Given the description of an element on the screen output the (x, y) to click on. 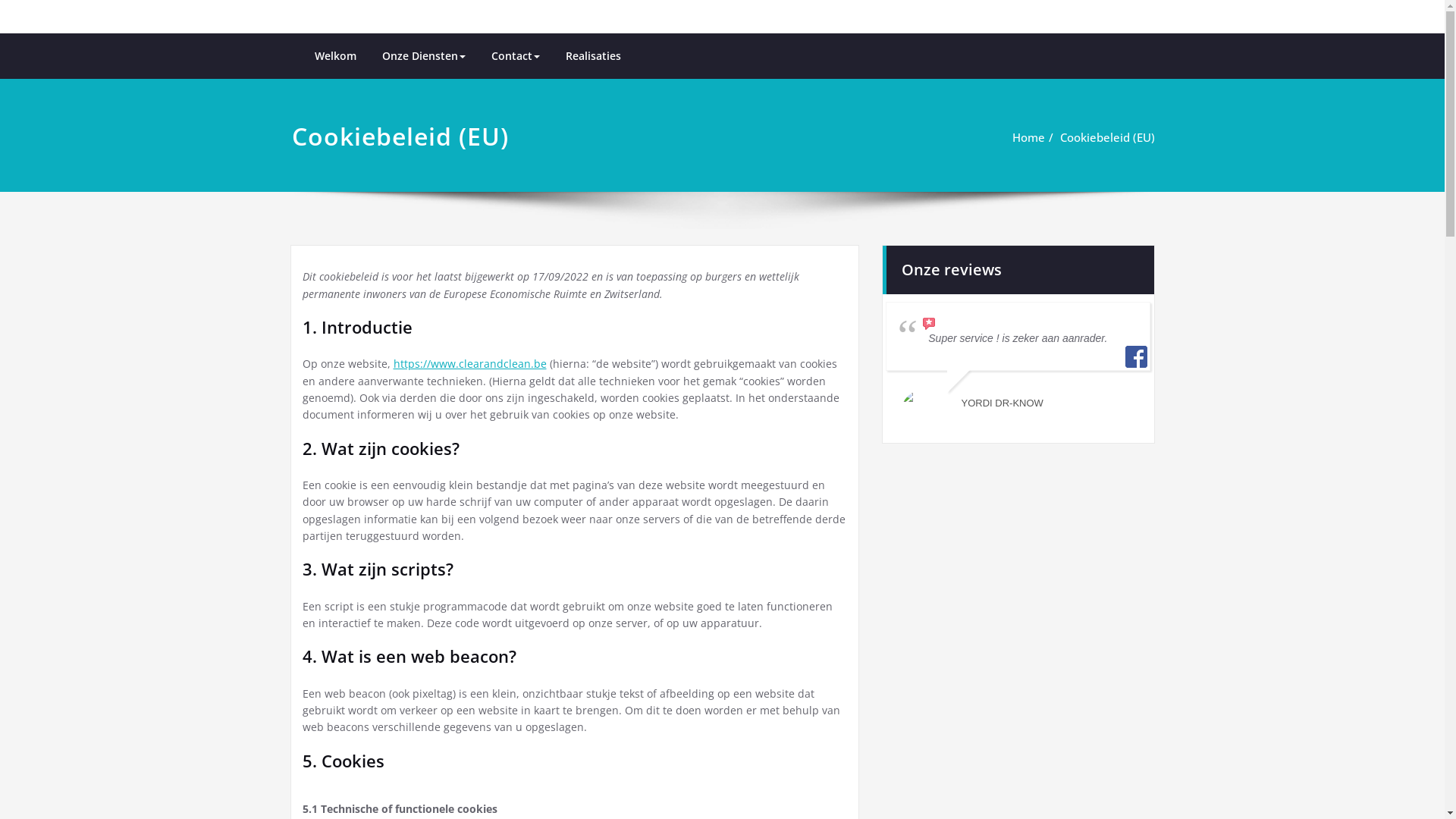
Welkom Element type: text (335, 55)
Contact Element type: text (514, 55)
Cookiebeleid (EU) Element type: text (1107, 136)
Skip to content Element type: text (0, 0)
Clear and Clean Bv Element type: text (823, 35)
Home Element type: text (1027, 136)
https://www.clearandclean.be Element type: text (469, 363)
Onze Diensten Element type: text (422, 55)
Realisaties Element type: text (592, 55)
